Given the description of an element on the screen output the (x, y) to click on. 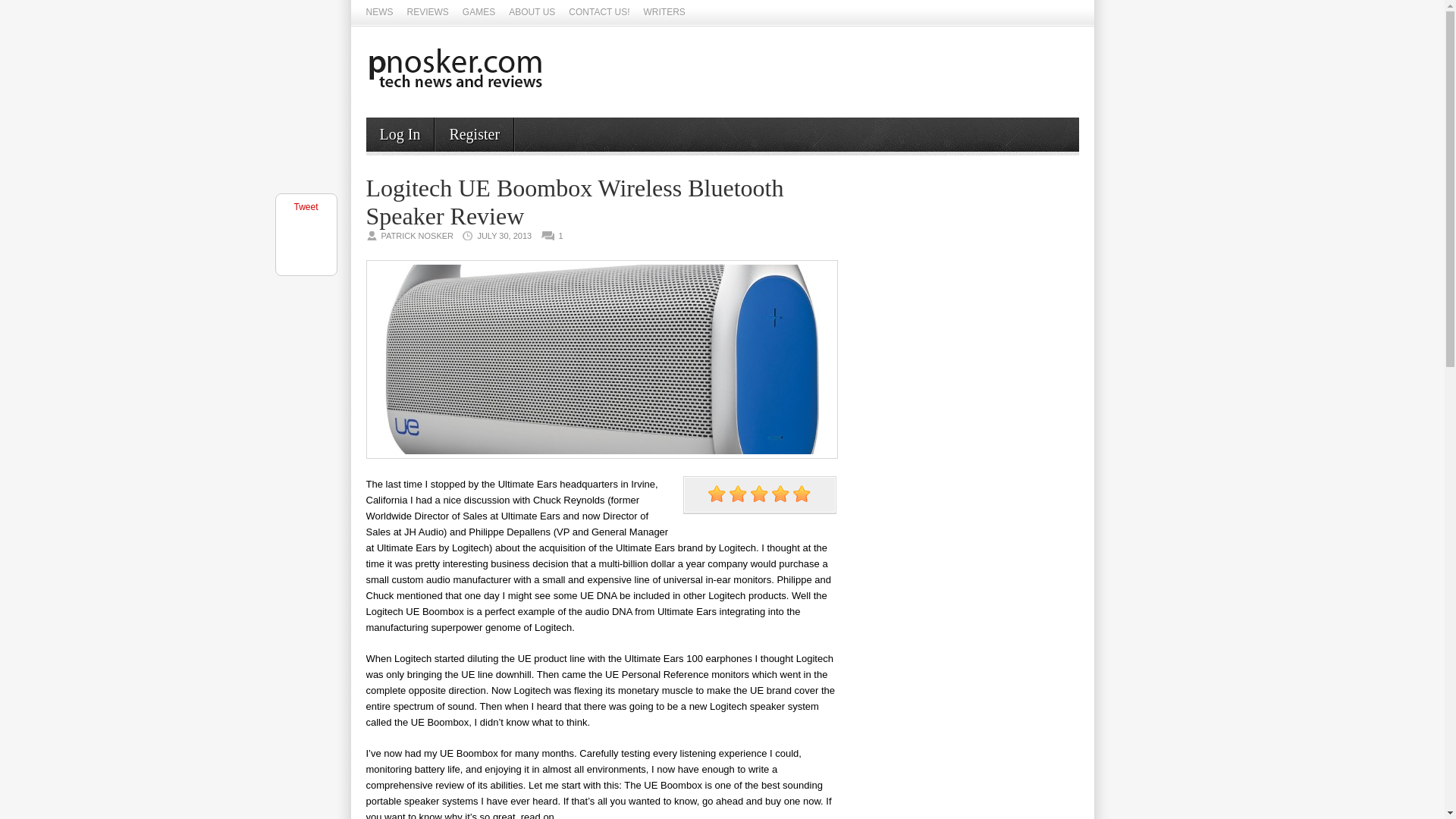
GAMES (479, 13)
REVIEWS (427, 13)
Log In (399, 133)
WRITERS (664, 13)
CONTACT US! (598, 13)
Register (474, 133)
ABOUT US (531, 13)
NEWS (379, 13)
